Given the description of an element on the screen output the (x, y) to click on. 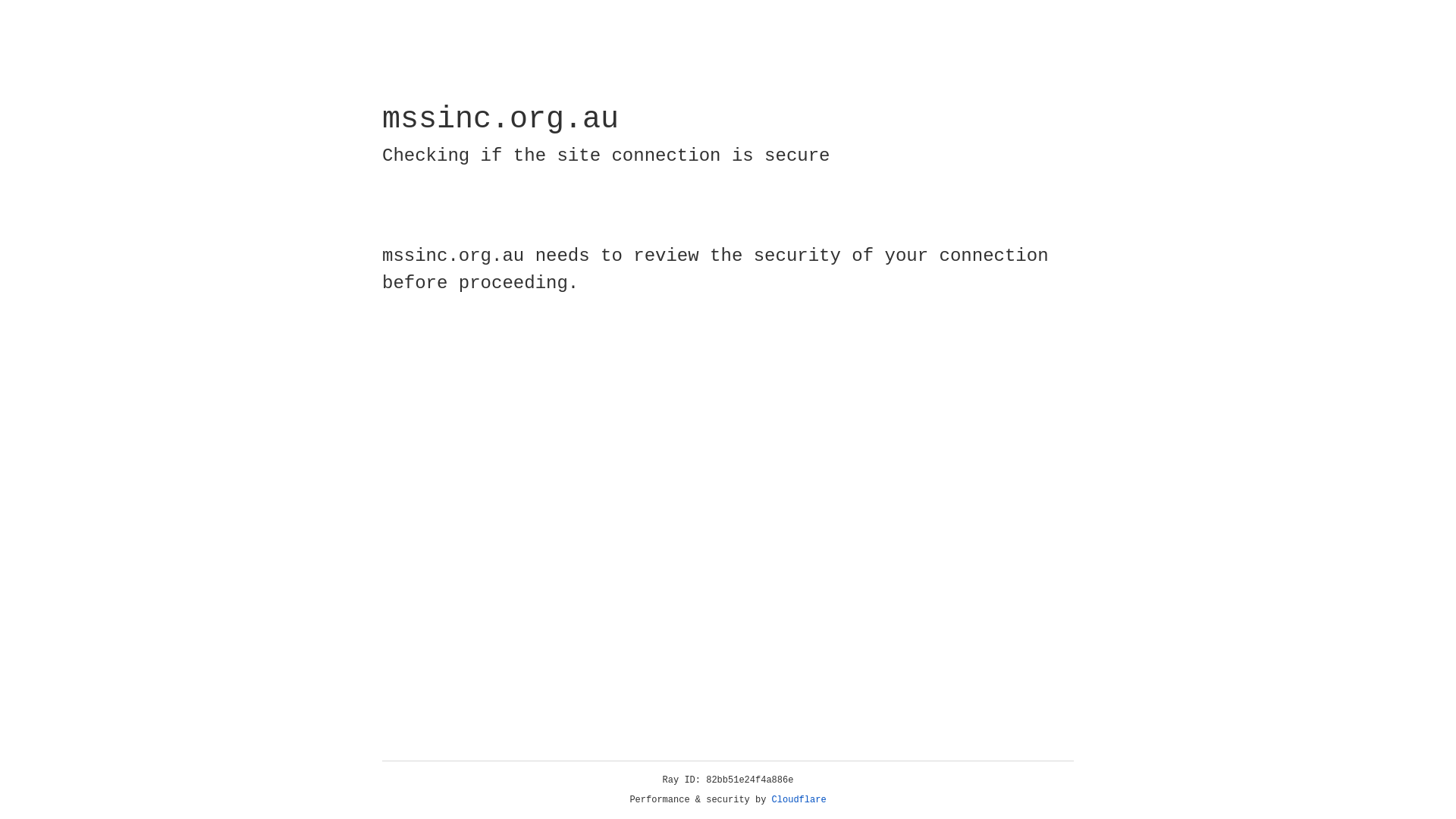
Cloudflare Element type: text (798, 799)
